Given the description of an element on the screen output the (x, y) to click on. 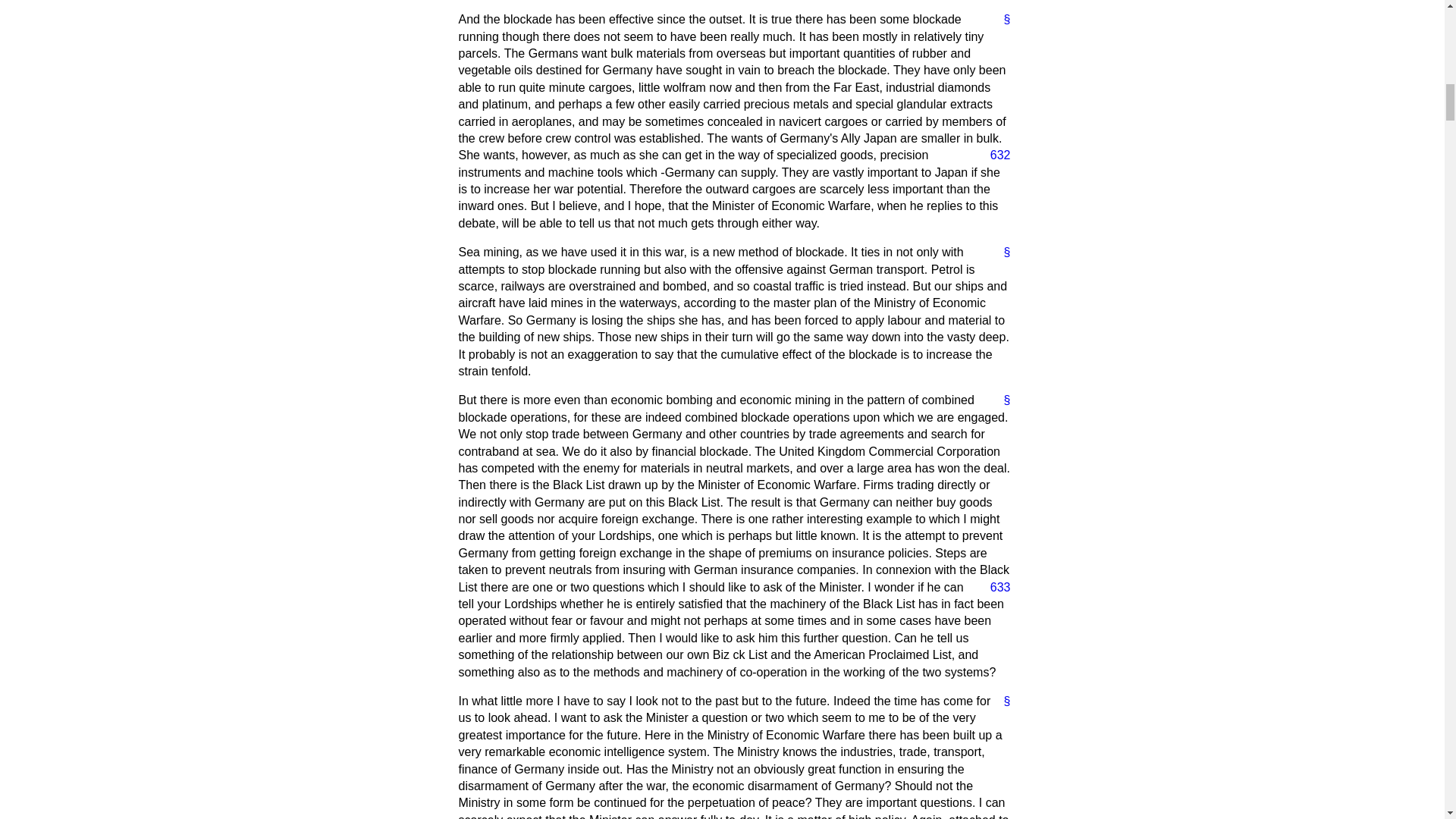
Link to this contribution (1000, 252)
Link to this contribution (1000, 701)
632 (994, 155)
633 (994, 587)
Link to this contribution (1000, 19)
Link to this contribution (1000, 400)
